Given the description of an element on the screen output the (x, y) to click on. 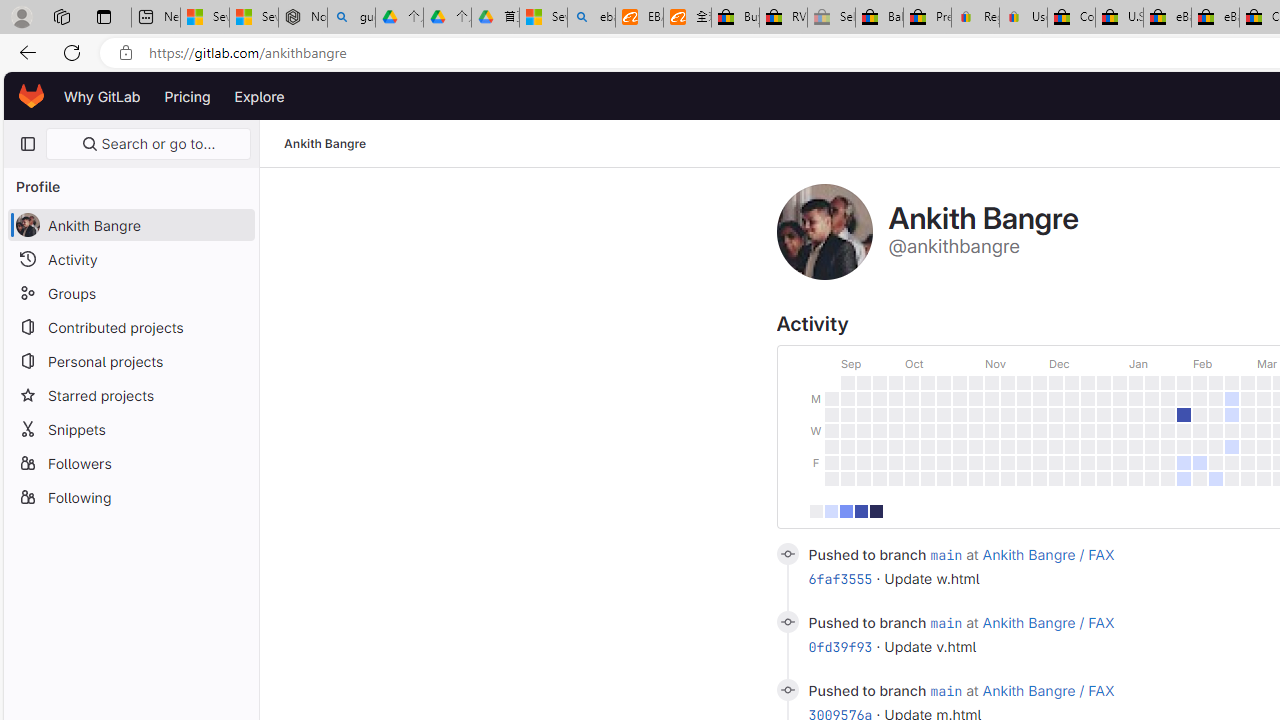
New tab (155, 17)
